Given the description of an element on the screen output the (x, y) to click on. 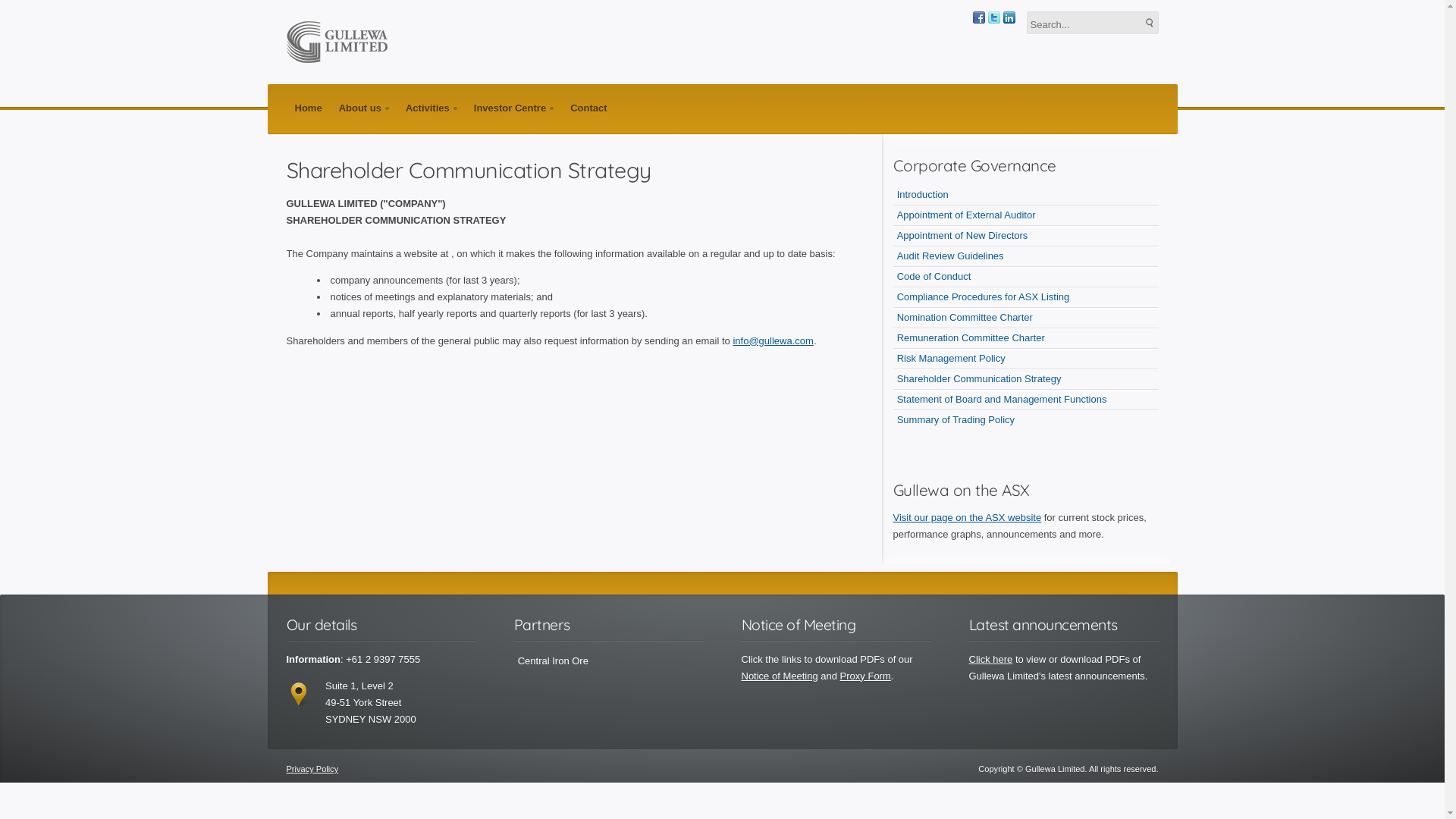
Audit Review Guidelines Element type: text (1025, 256)
Home Element type: hover (336, 41)
Code of Conduct Element type: text (1025, 276)
Central Iron Ore Element type: text (608, 661)
Appointment of External Auditor Element type: text (1025, 215)
Proxy Form Element type: text (865, 675)
Follow us on Twitter Element type: hover (993, 17)
Introduction Element type: text (1025, 195)
Compliance Procedures for ASX Listing Element type: text (1025, 297)
Click here Element type: text (991, 659)
Investor Centre Element type: text (513, 108)
Nomination Committee Charter Element type: text (1025, 317)
Like us in Facebook Element type: hover (978, 17)
Activities Element type: text (431, 108)
Statement of Board and Management Functions Element type: text (1025, 399)
Shareholder Communication Strategy Element type: text (1025, 379)
Privacy Policy Element type: text (312, 768)
Risk Management Policy Element type: text (1025, 358)
Summary of Trading Policy Element type: text (1025, 419)
Home Element type: text (308, 108)
Remuneration Committee Charter Element type: text (1025, 338)
About us Element type: text (363, 108)
Visit our page on the ASX website Element type: text (967, 517)
Contact Element type: text (588, 108)
Notice of Meeting Element type: text (779, 675)
Find us on LinkedIn Element type: hover (1008, 17)
info@gullewa.com Element type: text (772, 340)
Appointment of New Directors Element type: text (1025, 235)
